Given the description of an element on the screen output the (x, y) to click on. 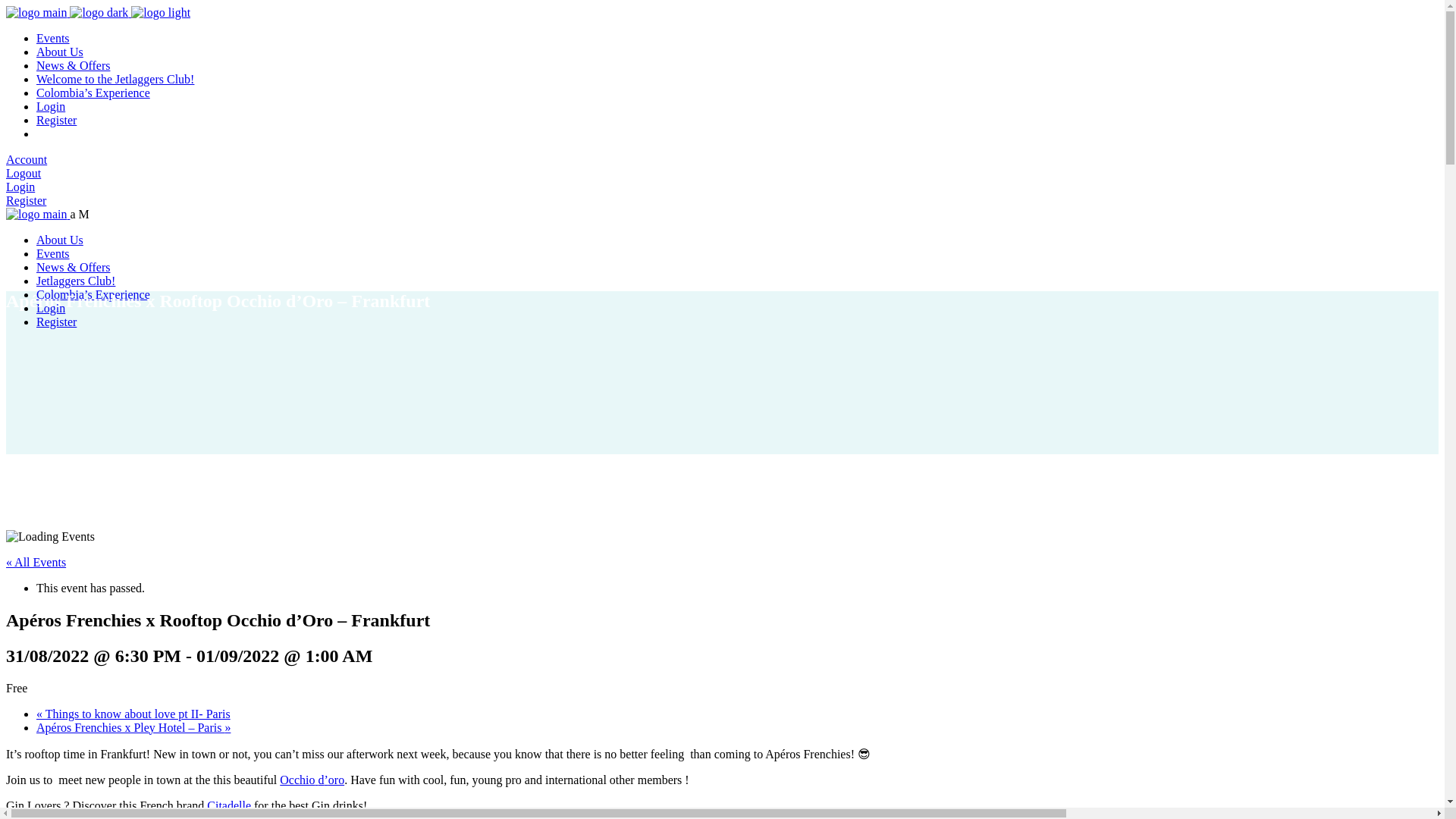
Events (52, 253)
Events (52, 38)
Welcome to the Jetlaggers Club! (114, 78)
Account (25, 159)
About Us (59, 239)
Login (50, 308)
Login (19, 186)
Logout (22, 173)
Login (50, 106)
Register (56, 321)
